Given the description of an element on the screen output the (x, y) to click on. 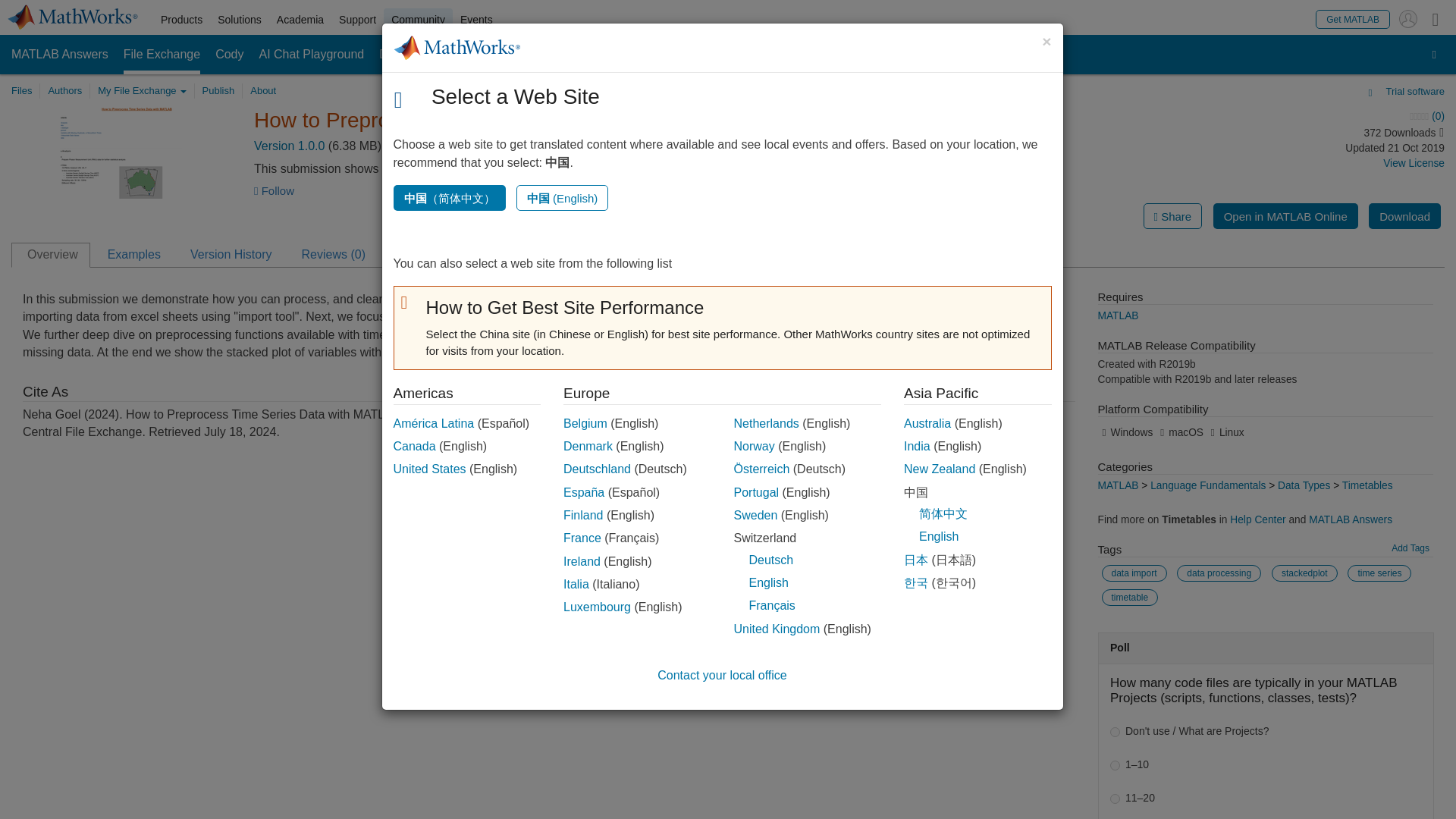
Sign In to Your MathWorks Account (1407, 18)
Download (1404, 216)
Get MATLAB (1353, 18)
Academia (300, 19)
Community (418, 19)
Products (180, 19)
Events (476, 19)
Solutions (239, 19)
Support (357, 19)
0.00 out of 5 stars (1303, 116)
